Given the description of an element on the screen output the (x, y) to click on. 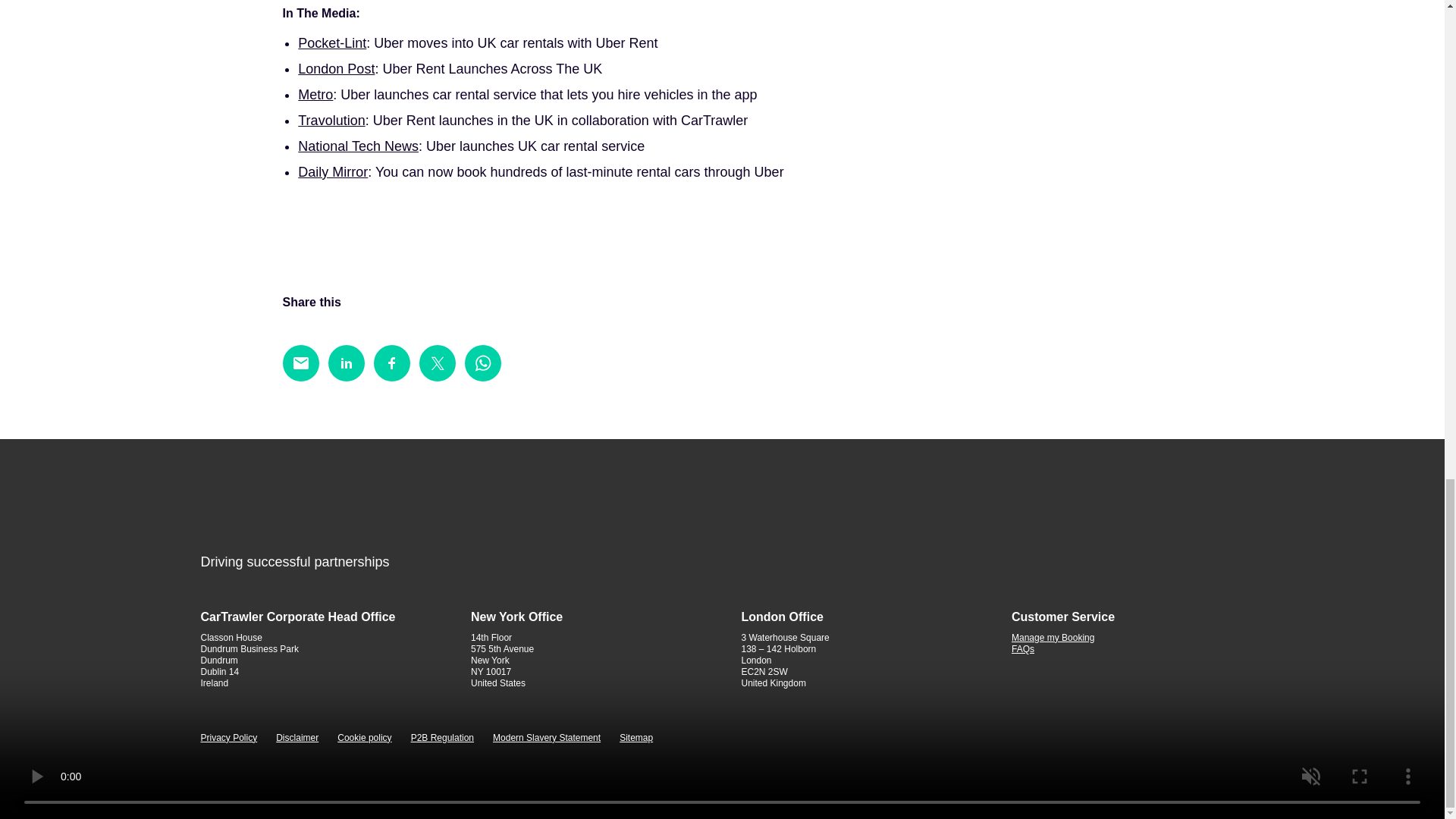
Metro (315, 94)
Modern Slavery Statement (546, 737)
National Tech News (358, 145)
Privacy Policy (228, 737)
Sitemap (636, 737)
P2B Regulation (442, 737)
Cookie policy (364, 737)
Disclaimer (297, 737)
Pocket-Lint (332, 43)
Travolution (331, 120)
